Given the description of an element on the screen output the (x, y) to click on. 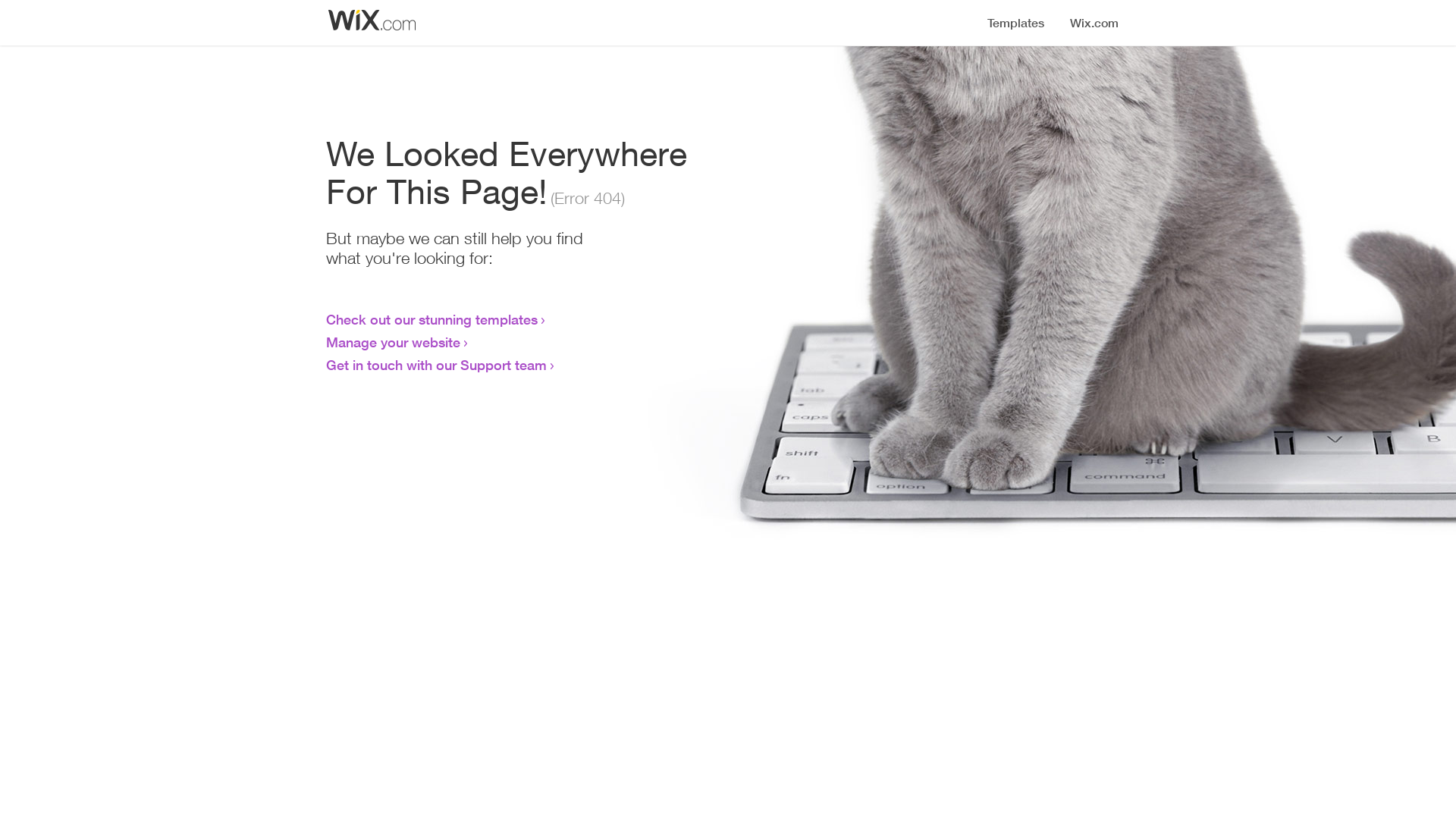
Manage your website Element type: text (393, 341)
Check out our stunning templates Element type: text (431, 318)
Get in touch with our Support team Element type: text (436, 364)
